Given the description of an element on the screen output the (x, y) to click on. 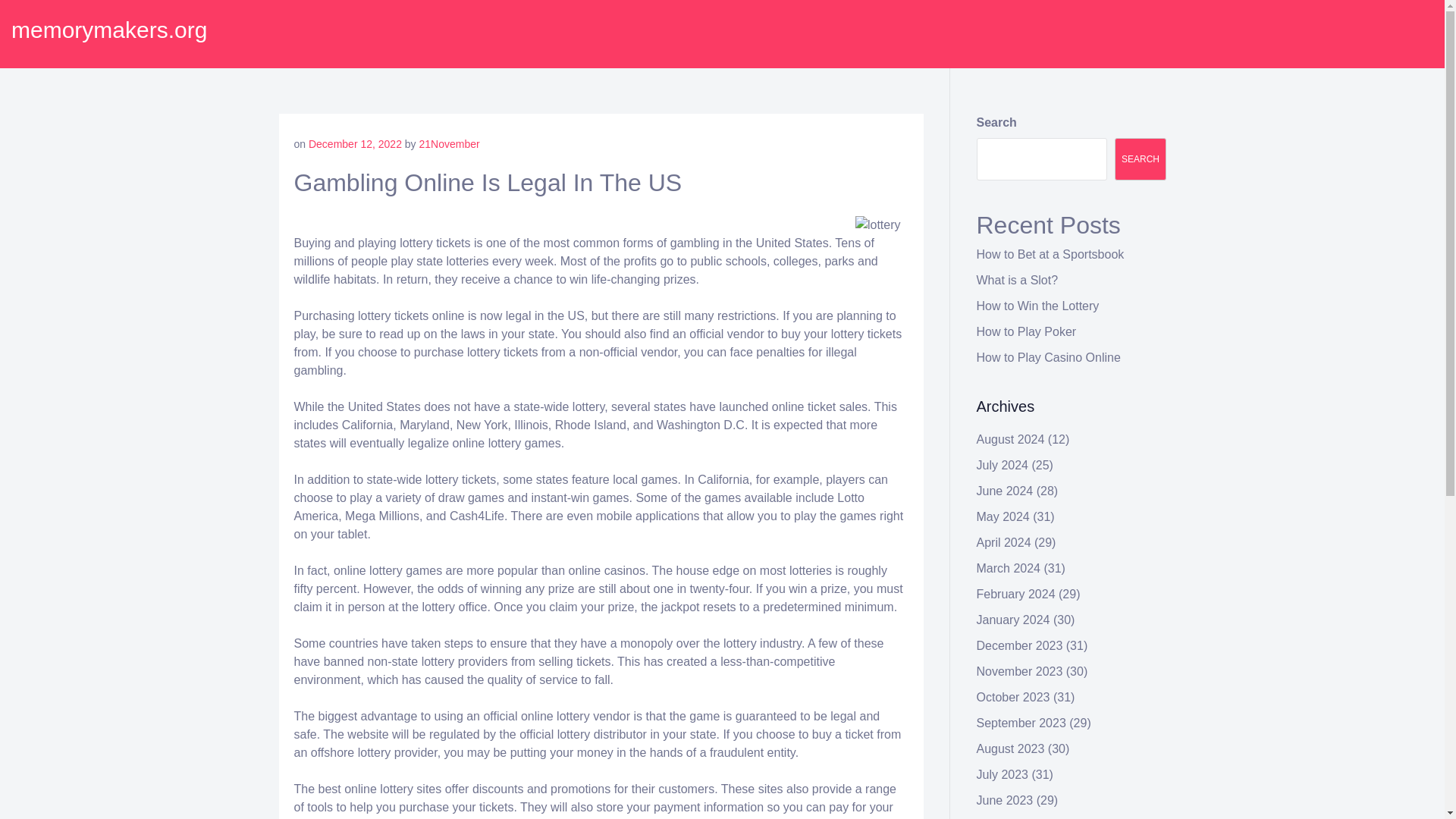
July 2023 (1002, 774)
October 2023 (1012, 697)
How to Play Poker (1026, 331)
August 2023 (1010, 748)
SEARCH (1140, 159)
memorymakers.org (108, 29)
21November (449, 143)
What is a Slot? (1017, 279)
March 2024 (1008, 567)
May 2024 (1002, 516)
